Given the description of an element on the screen output the (x, y) to click on. 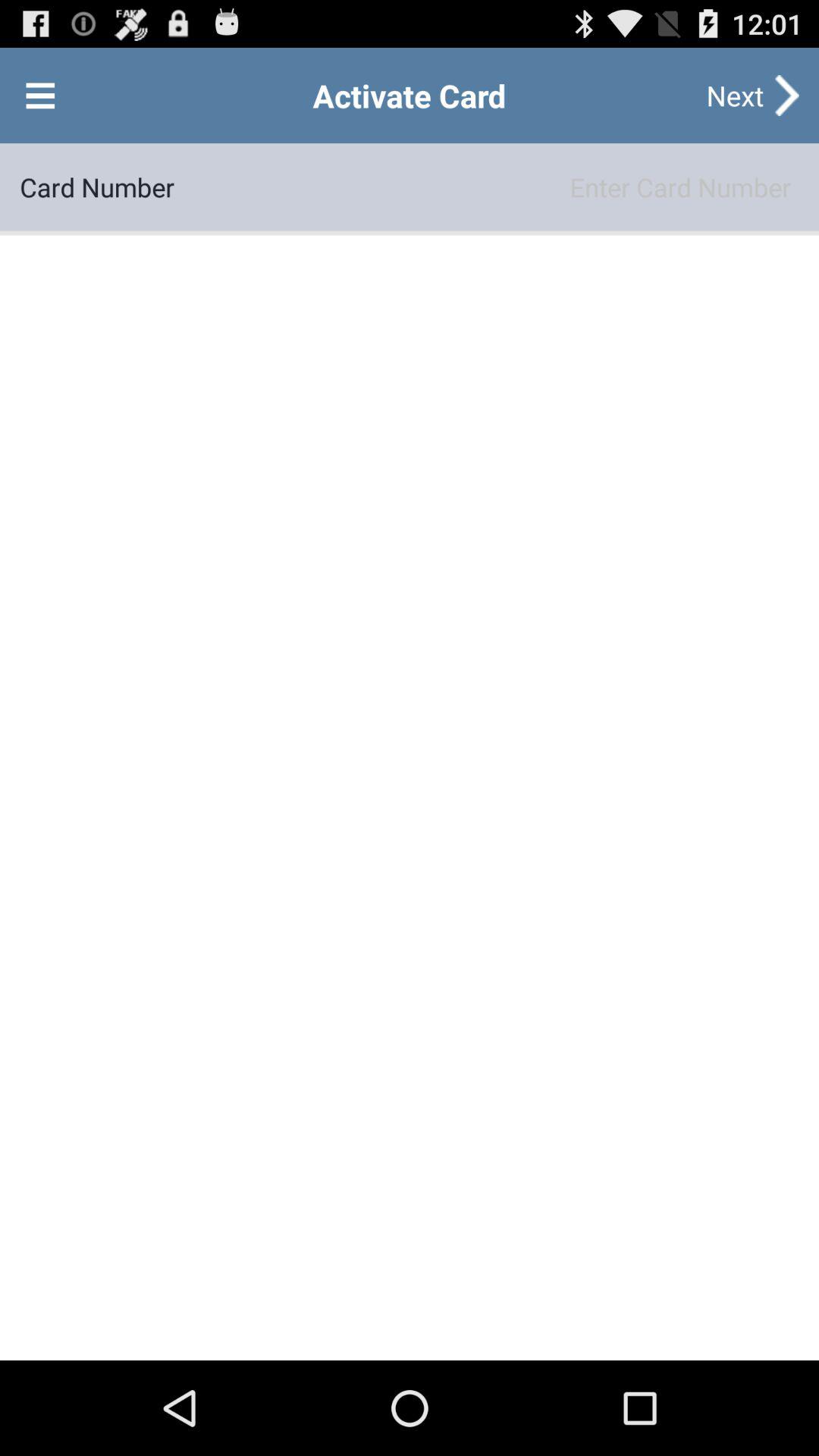
jump to next item (735, 95)
